Given the description of an element on the screen output the (x, y) to click on. 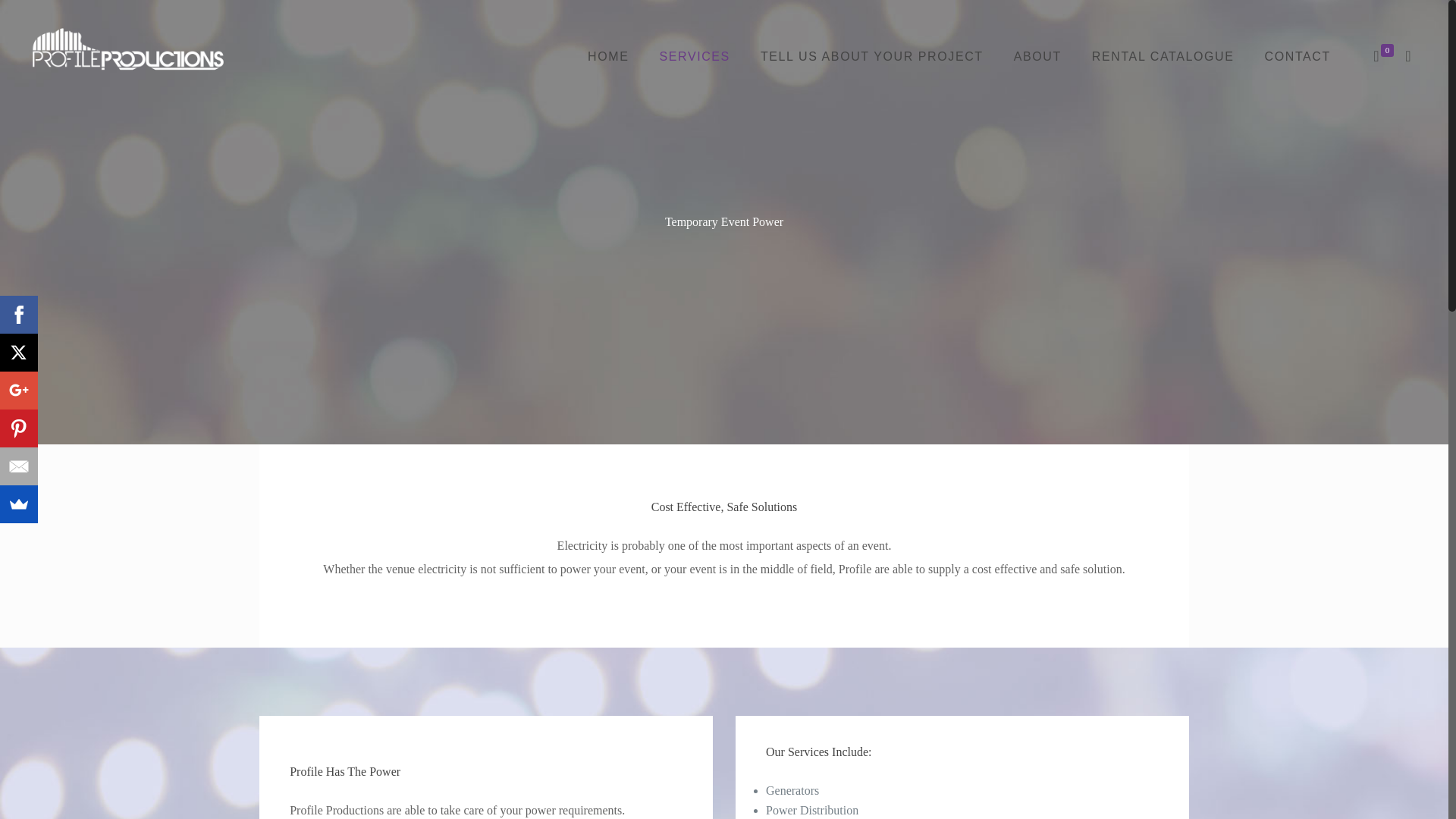
Email (18, 466)
SumoMe (18, 504)
Facebook (18, 314)
Pinterest (18, 428)
RENTAL CATALOGUE (1163, 56)
X (18, 352)
TELL US ABOUT YOUR PROJECT (871, 56)
Profile Productions (128, 47)
CONTACT (1297, 56)
0 (1383, 56)
HOME (607, 56)
SERVICES (693, 56)
ABOUT (1037, 56)
